Given the description of an element on the screen output the (x, y) to click on. 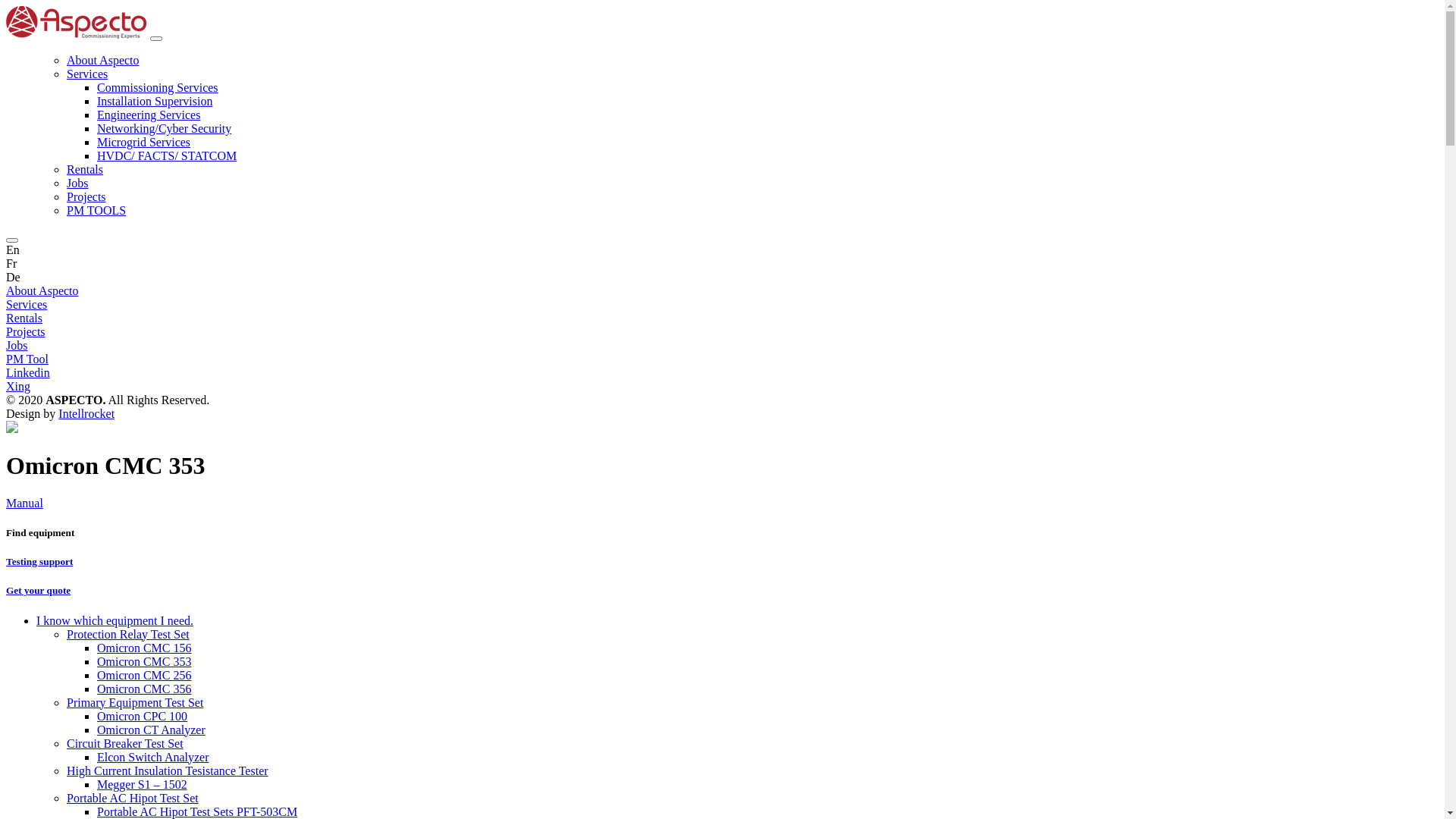
I know which equipment I need. Element type: text (114, 620)
Rentals Element type: text (84, 169)
Omicron CT Analyzer Element type: text (151, 729)
Omicron CMC 356 Element type: text (144, 688)
Primary Equipment Test Set Element type: text (134, 702)
About Aspecto Element type: text (42, 290)
Installation Supervision Element type: text (154, 100)
HVDC/ FACTS/ STATCOM Element type: text (166, 155)
Omicron CPC 100 Element type: text (142, 715)
Xing Element type: text (722, 386)
Networking/Cyber Security Element type: text (164, 128)
Services Element type: text (86, 73)
High Current Insulation Tesistance Tester Element type: text (167, 770)
Elcon Switch Analyzer Element type: text (153, 756)
About Aspecto Element type: text (102, 59)
Projects Element type: text (86, 196)
Microgrid Services Element type: text (143, 141)
Portable AC Hipot Test Sets PFT-503CM Element type: text (197, 811)
PM Tool Element type: text (27, 358)
Engineering Services Element type: text (148, 114)
Omicron CMC 353 Element type: text (144, 661)
Manual Element type: text (24, 502)
Omicron CMC 156 Element type: text (144, 647)
Jobs Element type: text (16, 344)
Jobs Element type: text (76, 182)
Get your quote Element type: text (722, 590)
Portable AC Hipot Test Set Element type: text (132, 797)
Rentals Element type: text (24, 317)
Protection Relay Test Set Element type: text (127, 633)
Projects Element type: text (25, 331)
Linkedin Element type: text (722, 372)
Circuit Breaker Test Set Element type: text (124, 743)
Testing support Element type: text (722, 561)
Omicron CMC 256 Element type: text (144, 674)
Intellrocket Element type: text (86, 413)
PM TOOLS Element type: text (95, 209)
Services Element type: text (26, 304)
Commissioning Services Element type: text (157, 87)
